Given the description of an element on the screen output the (x, y) to click on. 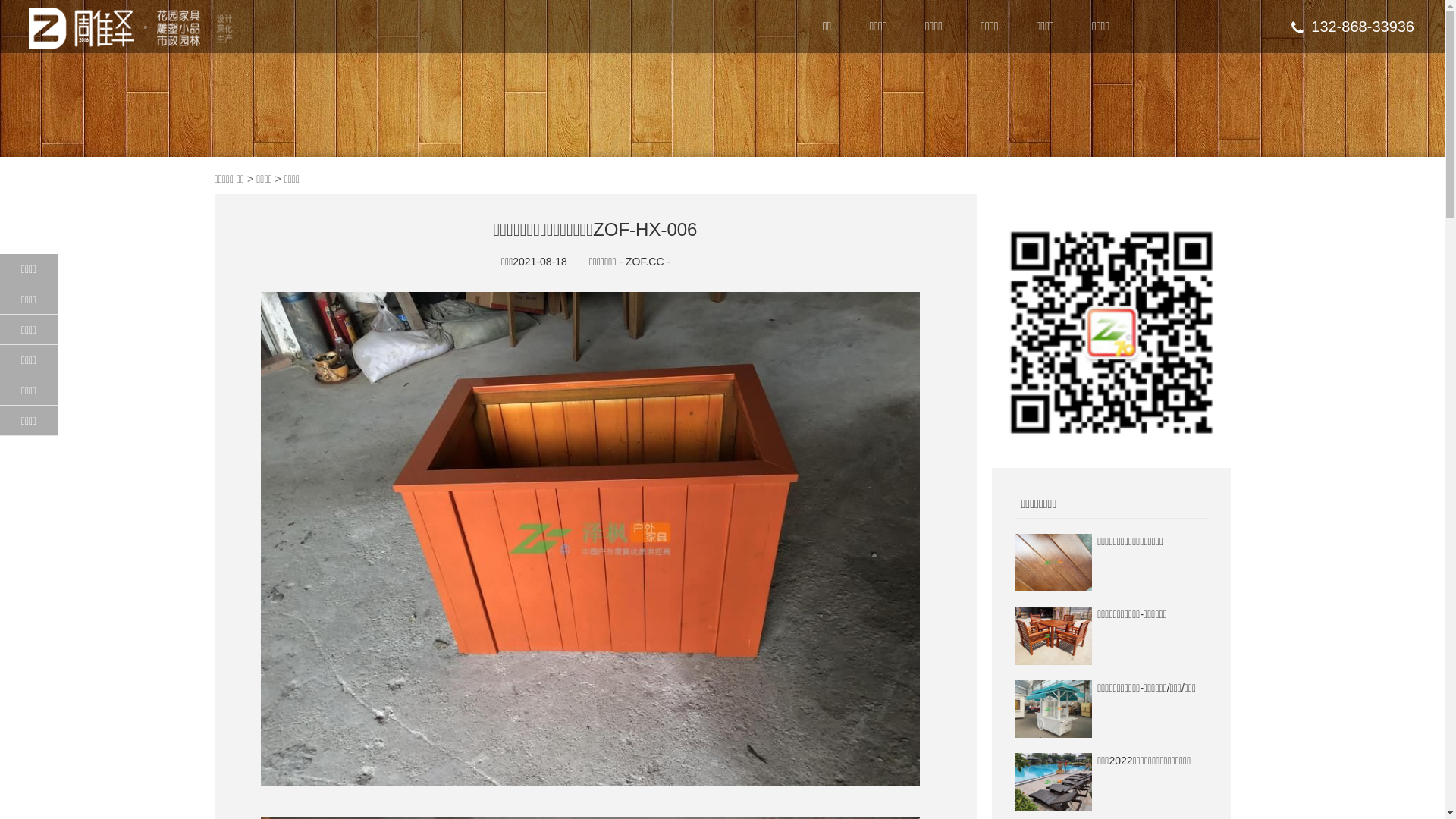
132-868-33936 Element type: text (1352, 26)
